Given the description of an element on the screen output the (x, y) to click on. 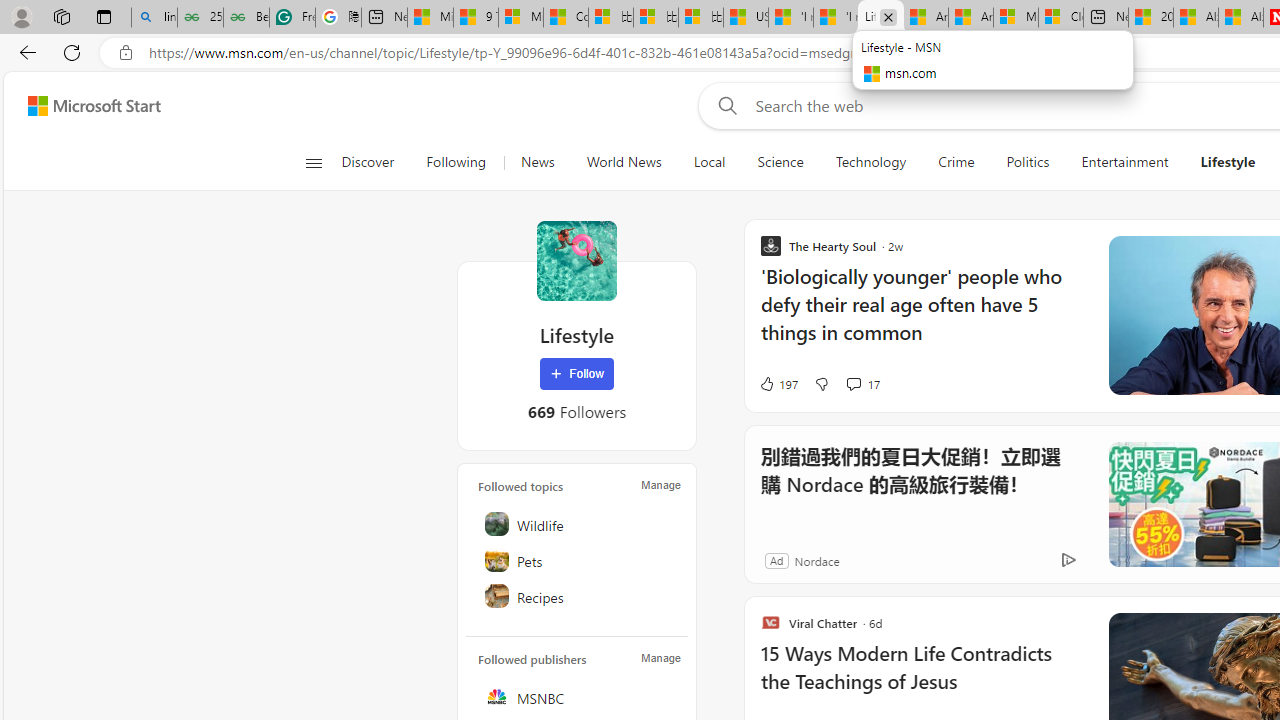
World News (623, 162)
Lifestyle (1228, 162)
World News (623, 162)
Technology (870, 162)
Following (457, 162)
Science (779, 162)
Local (708, 162)
Lifestyle - MSN (880, 17)
Free AI Writing Assistance for Students | Grammarly (292, 17)
